Given the description of an element on the screen output the (x, y) to click on. 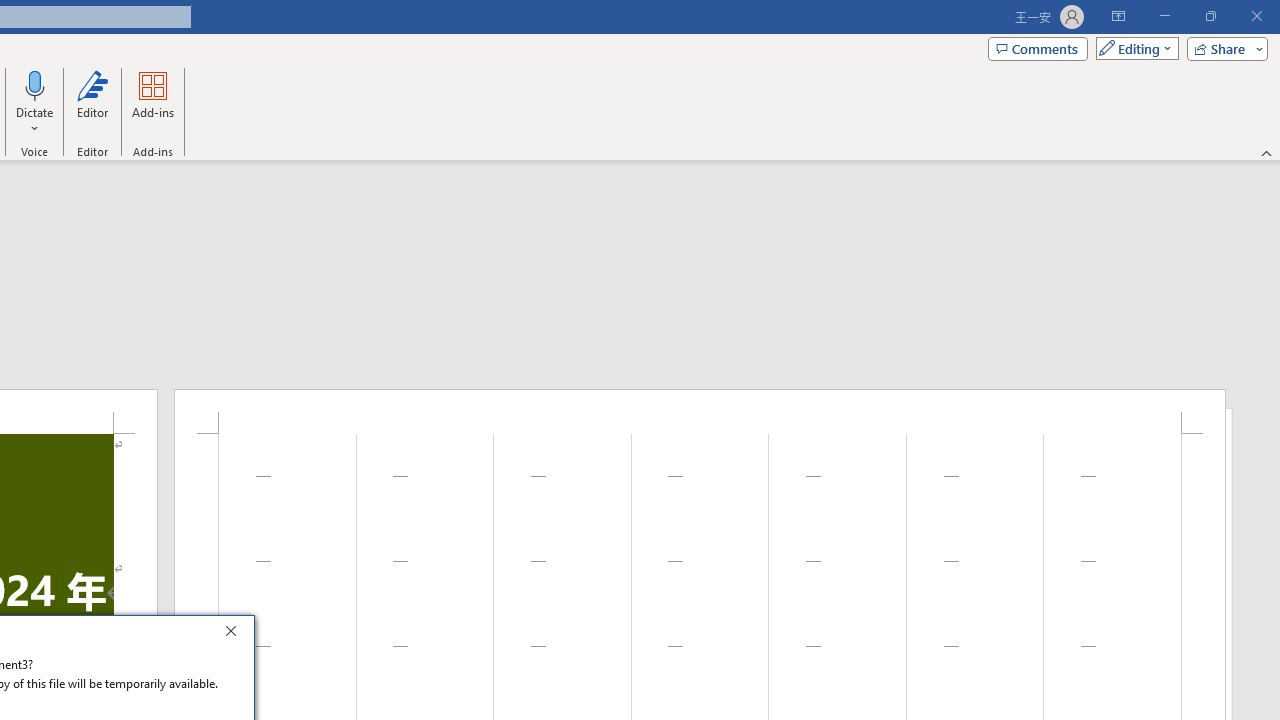
More Options (35, 121)
